Given the description of an element on the screen output the (x, y) to click on. 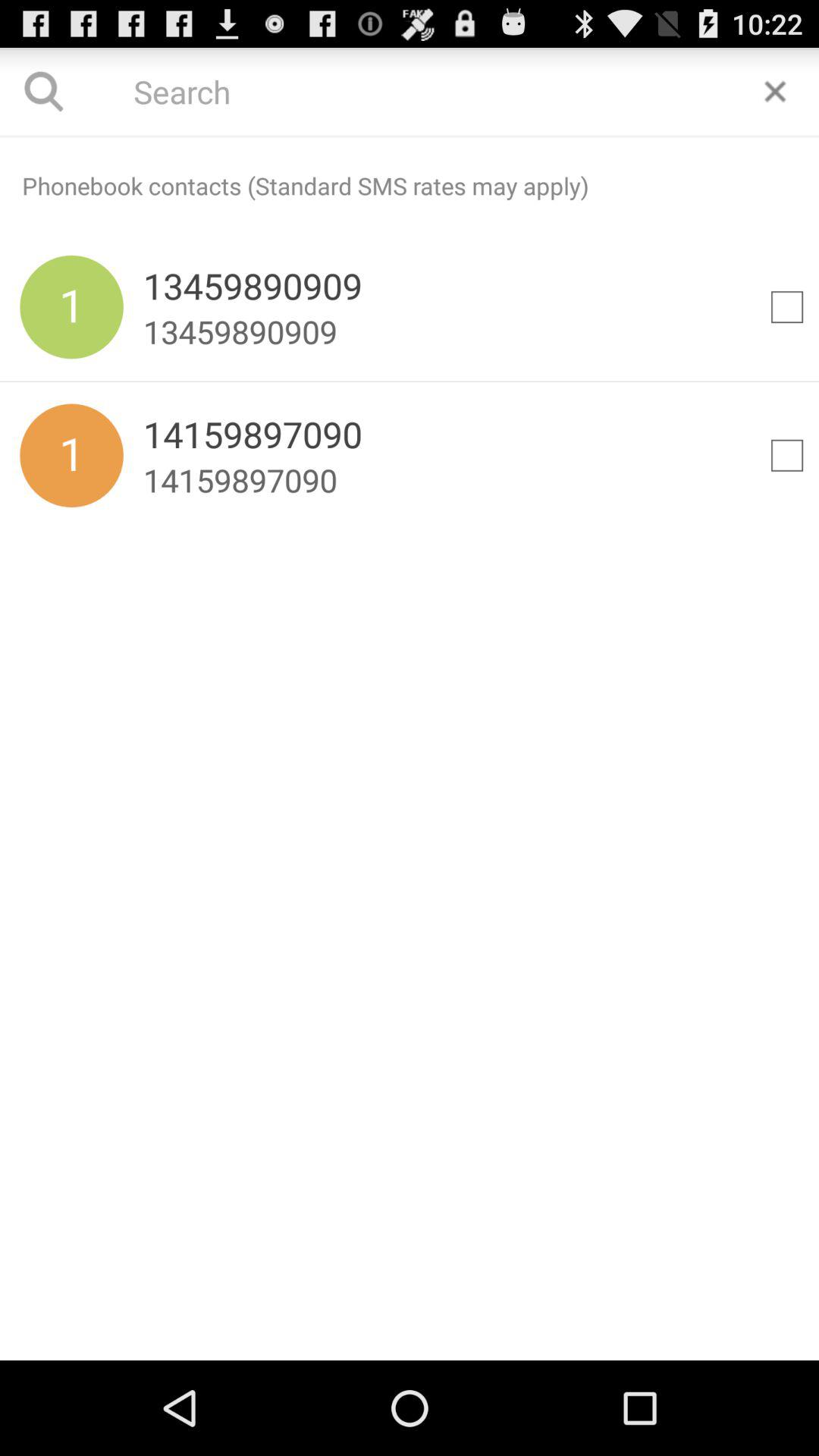
enter search term (409, 91)
